Given the description of an element on the screen output the (x, y) to click on. 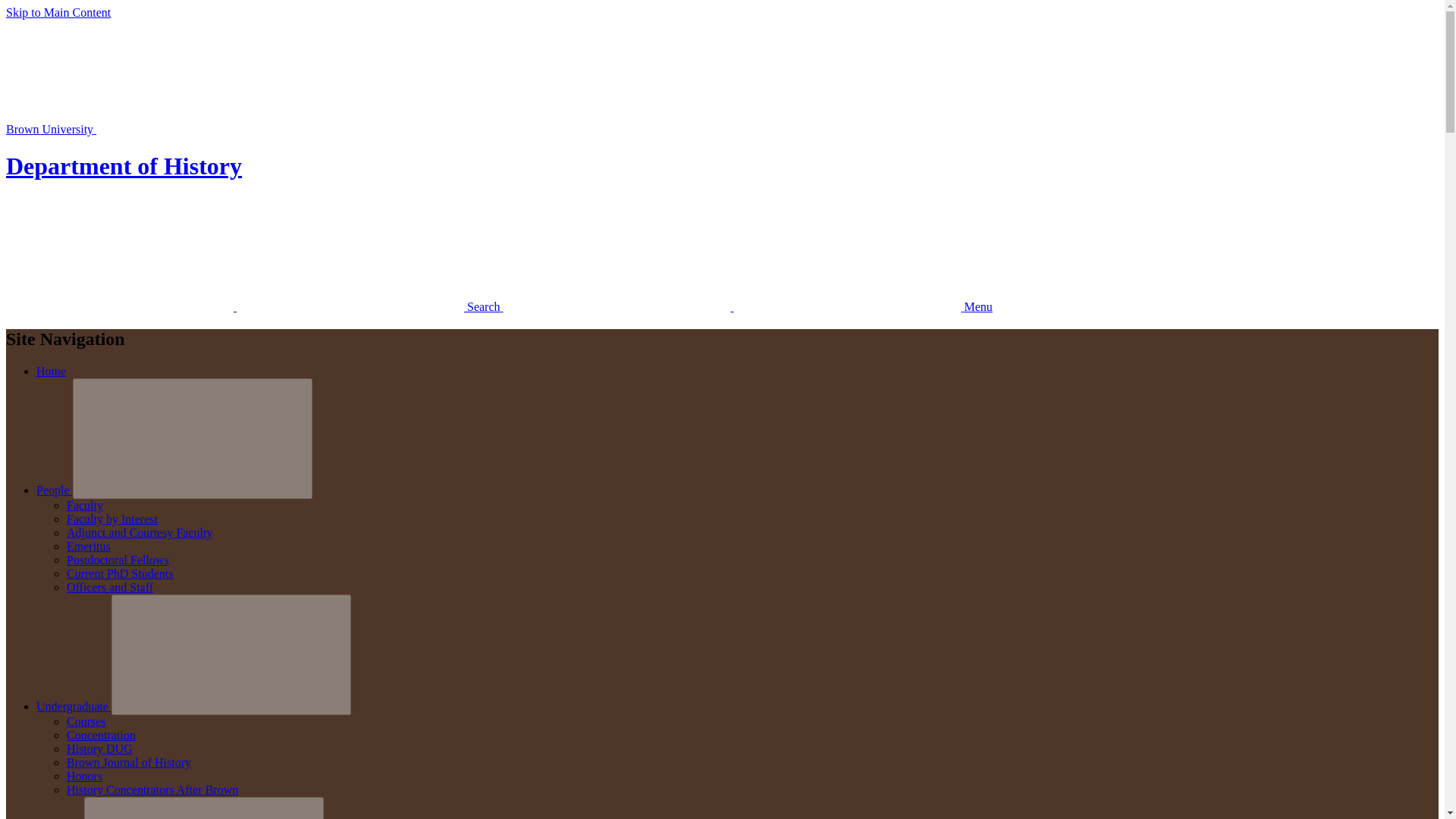
People (54, 490)
Emeritus (88, 545)
Current PhD Students (119, 573)
Faculty by Interest (111, 518)
Brown University (164, 128)
Search (254, 306)
Home (50, 370)
Skip to Main Content (57, 11)
Courses (86, 721)
Adjunct and Courtesy Faculty (139, 532)
Officers and Staff (109, 586)
Concentration (100, 735)
History Concentrators After Brown (152, 789)
History DUG (99, 748)
Postdoctoral Fellows (117, 559)
